Given the description of an element on the screen output the (x, y) to click on. 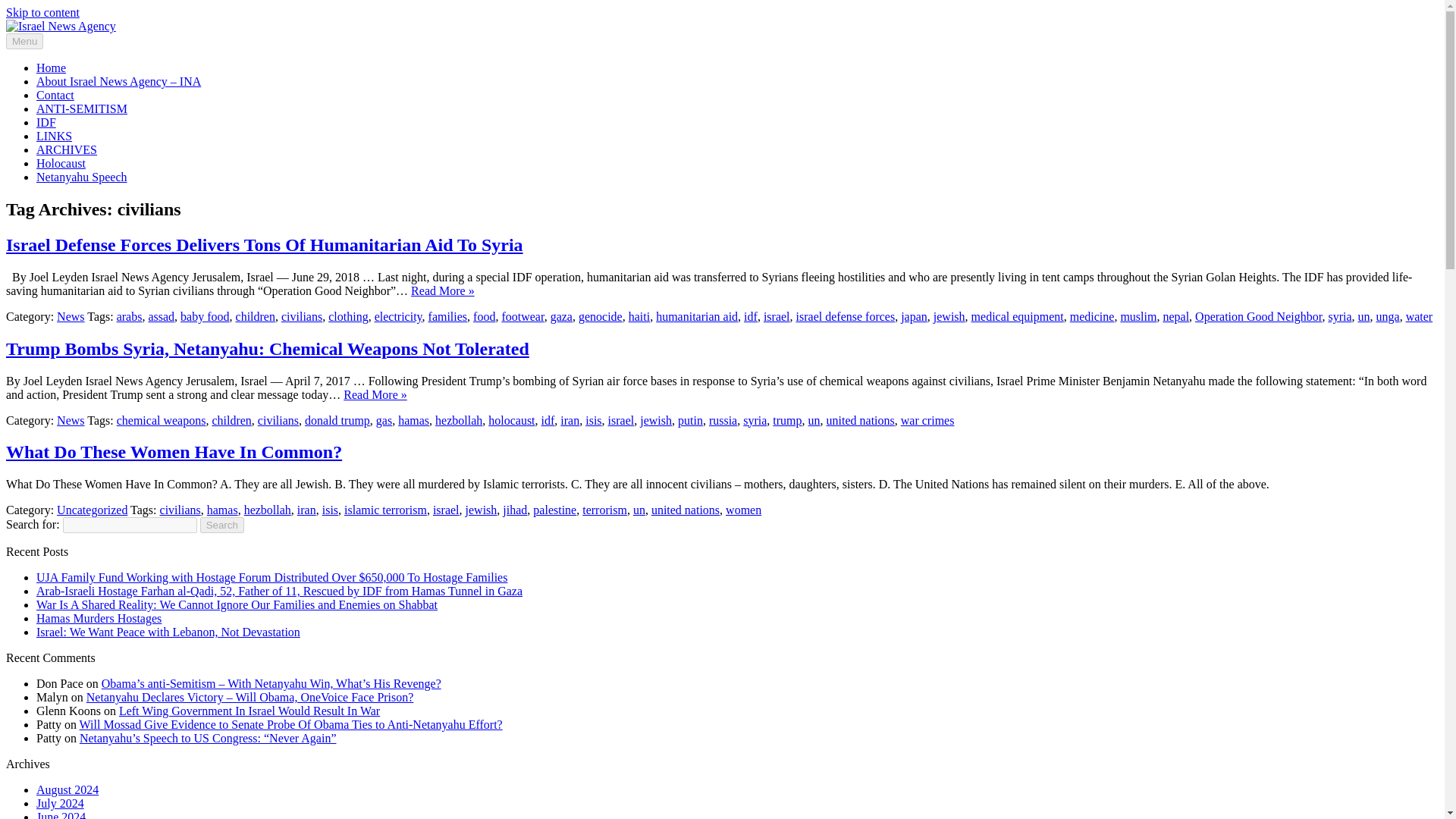
Skip to content (42, 11)
muslim (1137, 316)
Permalink to What Do These Women Have In Common? (173, 451)
footwear (521, 316)
arabs (129, 316)
electricity (398, 316)
Search (222, 524)
medicine (1092, 316)
